Given the description of an element on the screen output the (x, y) to click on. 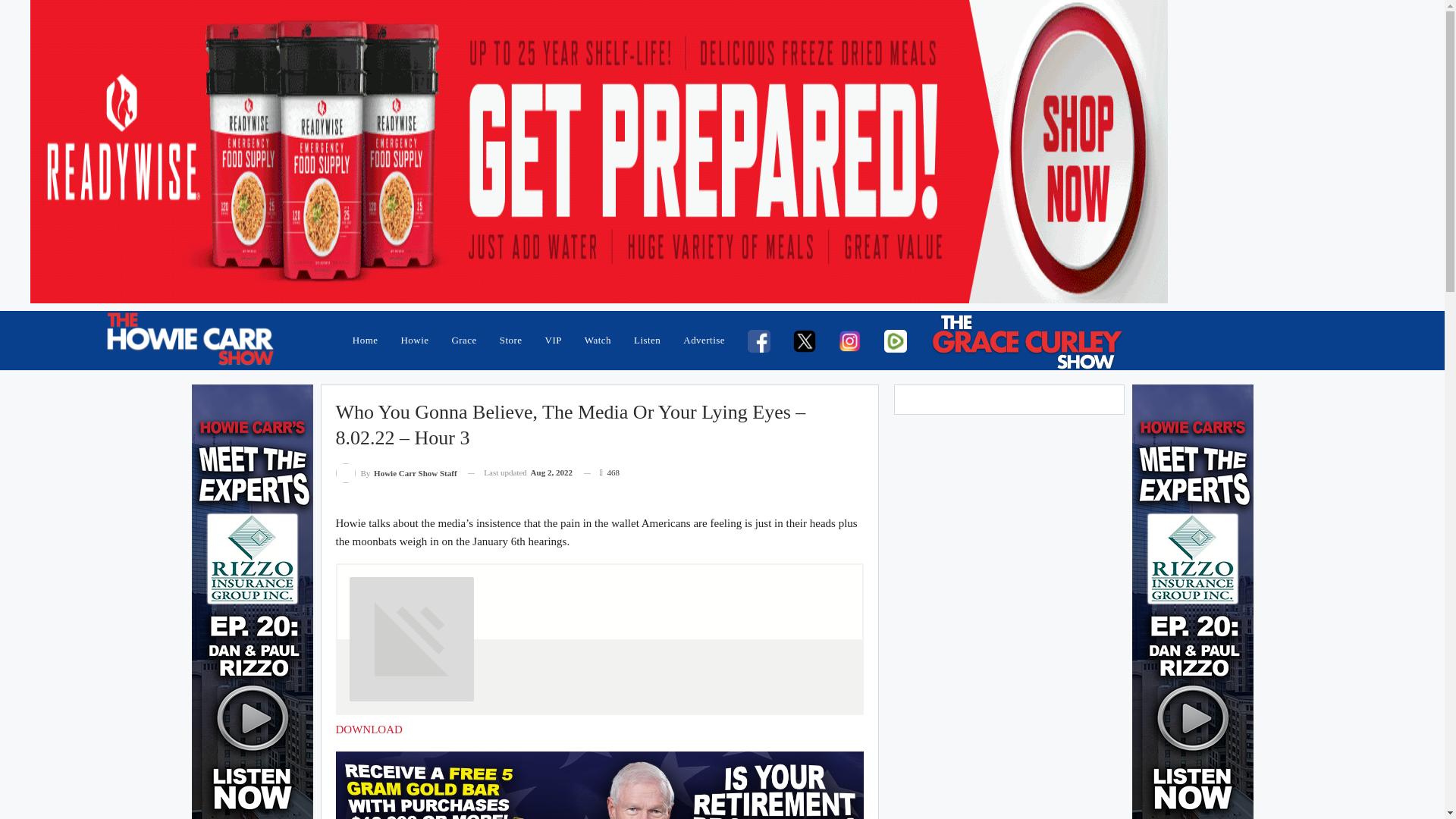
DOWNLOAD (367, 729)
By Howie Carr Show Staff (395, 472)
Advertise (703, 340)
Browse Author Articles (395, 472)
